Given the description of an element on the screen output the (x, y) to click on. 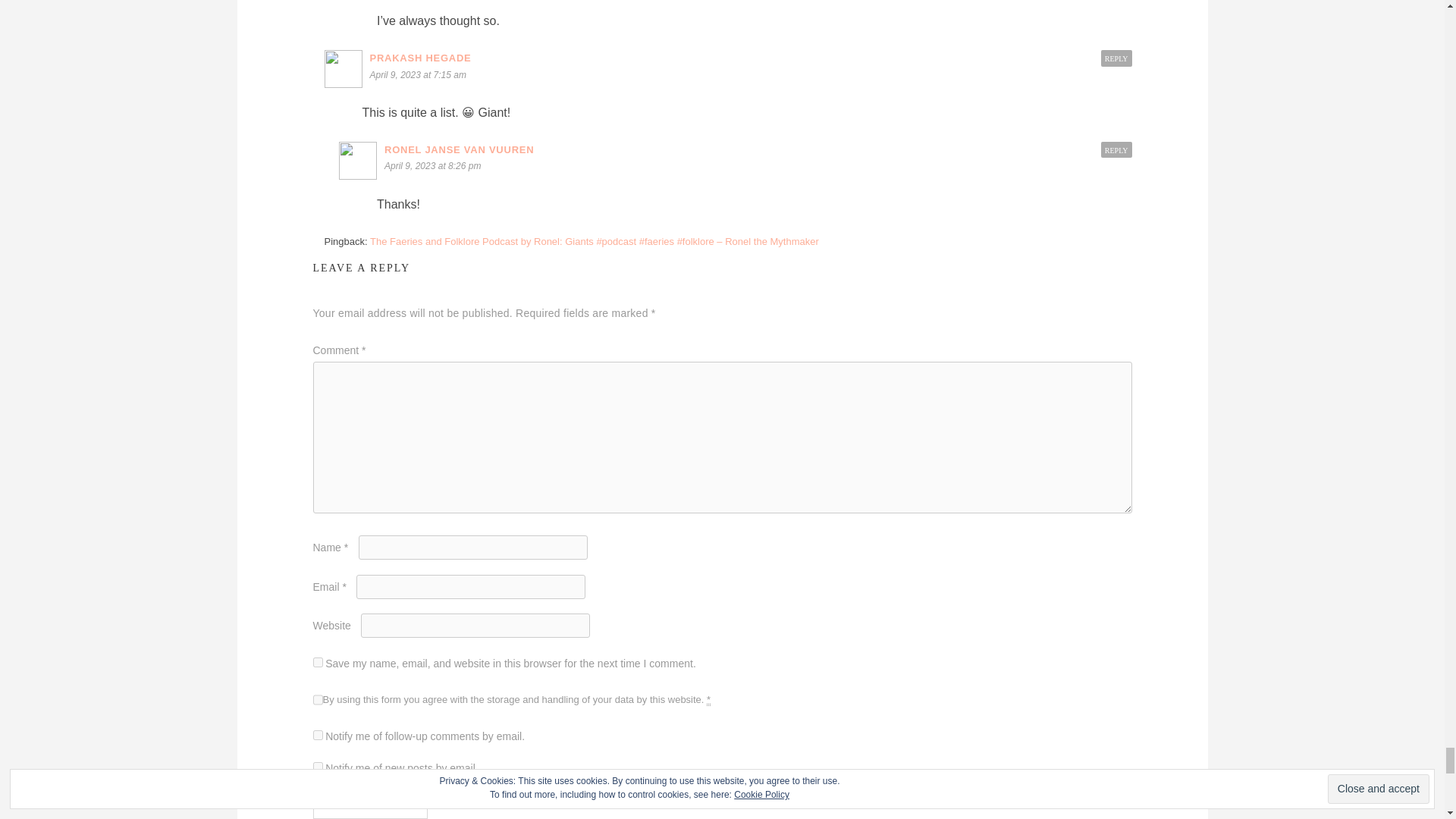
subscribe (317, 735)
subscribe (317, 767)
yes (317, 662)
Post Comment (370, 806)
